Given the description of an element on the screen output the (x, y) to click on. 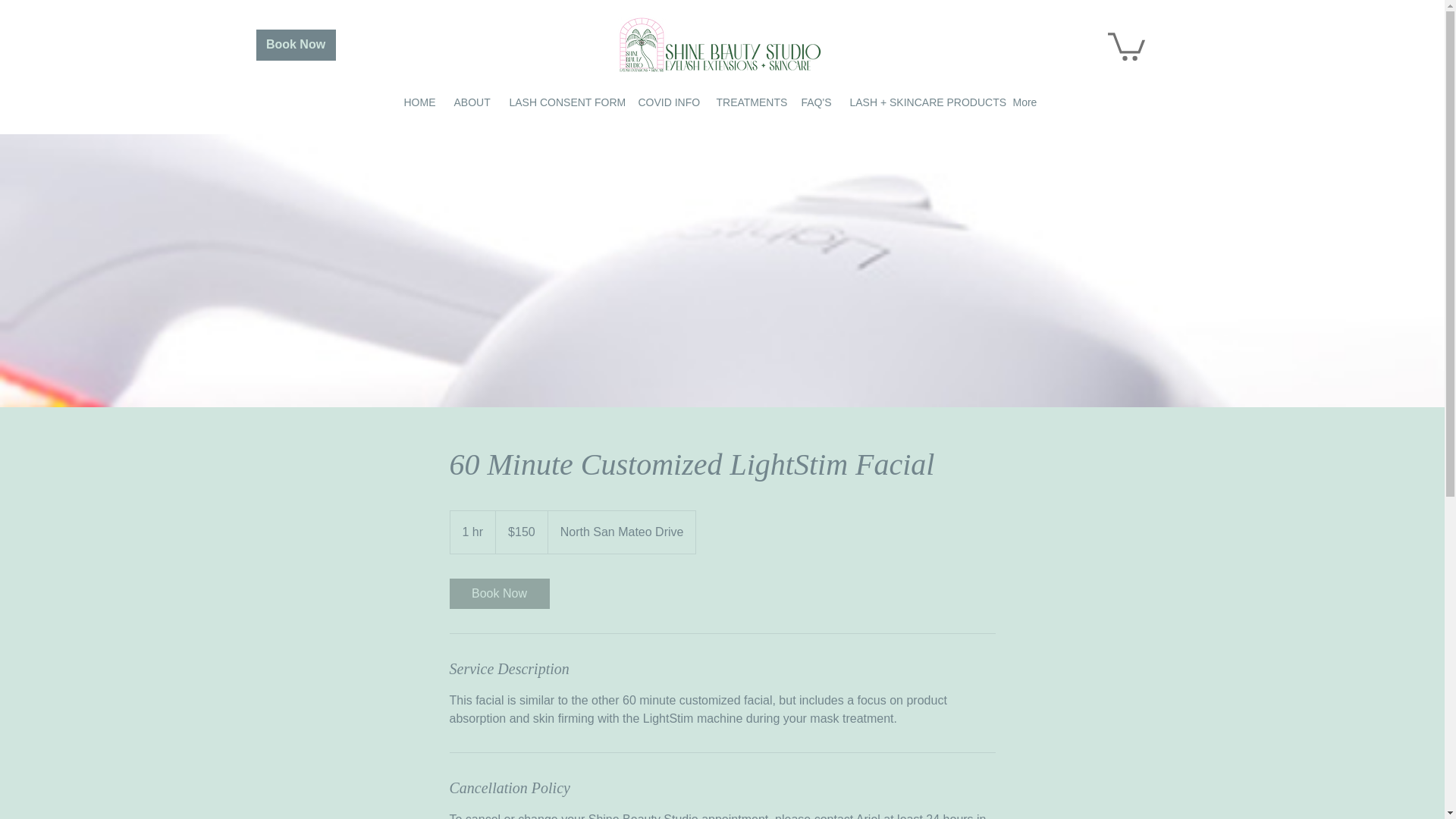
TREATMENTS (750, 102)
HOME (420, 102)
FAQ'S (817, 102)
LASH CONSENT FORM (566, 102)
Book Now (296, 44)
ABOUT (472, 102)
COVID INFO (669, 102)
Book Now (498, 593)
